Given the description of an element on the screen output the (x, y) to click on. 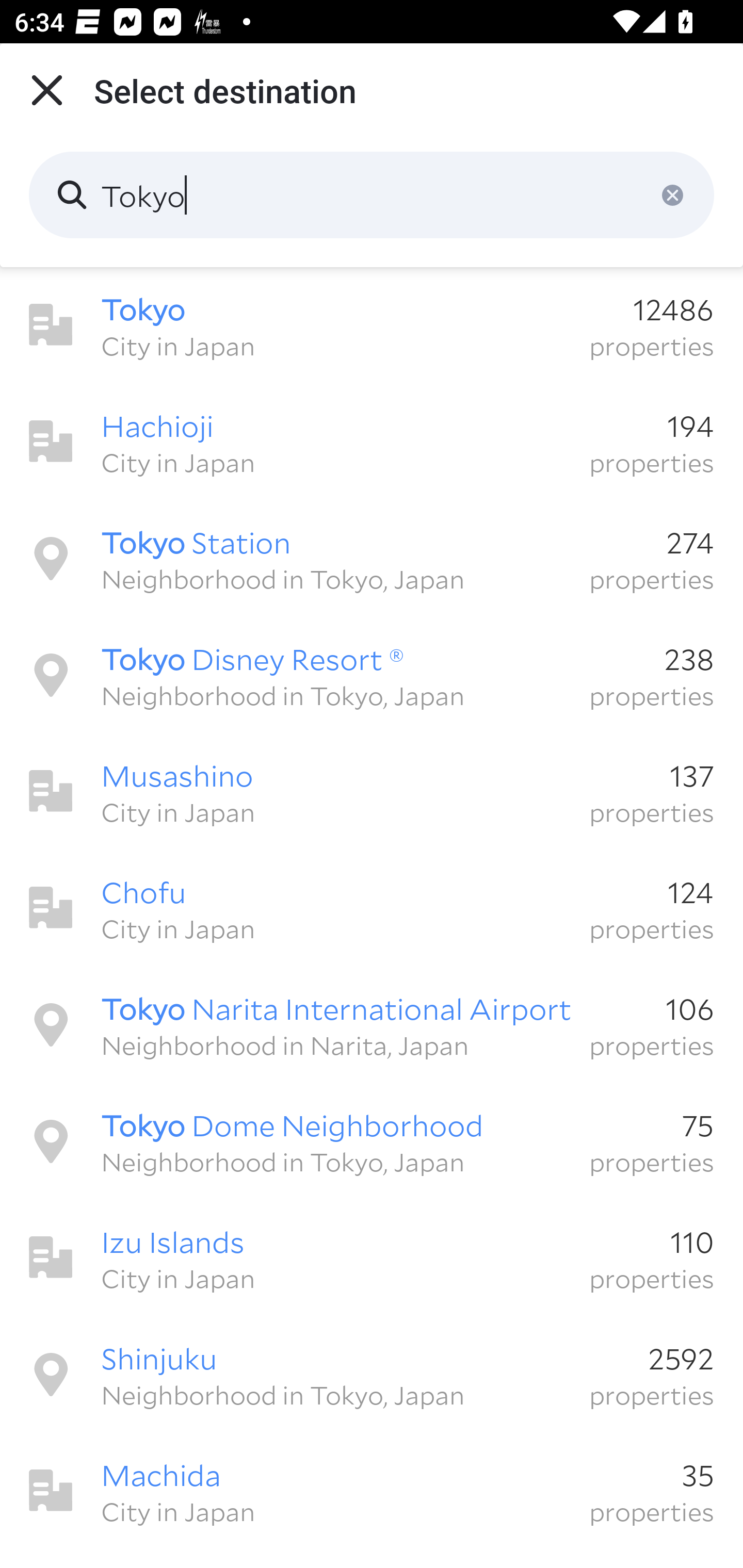
Tokyo (371, 195)
Tokyo 12486 City in Japan properties (371, 325)
Hachioji 194 City in Japan properties (371, 442)
Musashino 137 City in Japan properties (371, 791)
Chofu 124 City in Japan properties (371, 907)
Izu Islands 110 City in Japan properties (371, 1257)
Machida 35 City in Japan properties (371, 1491)
